Given the description of an element on the screen output the (x, y) to click on. 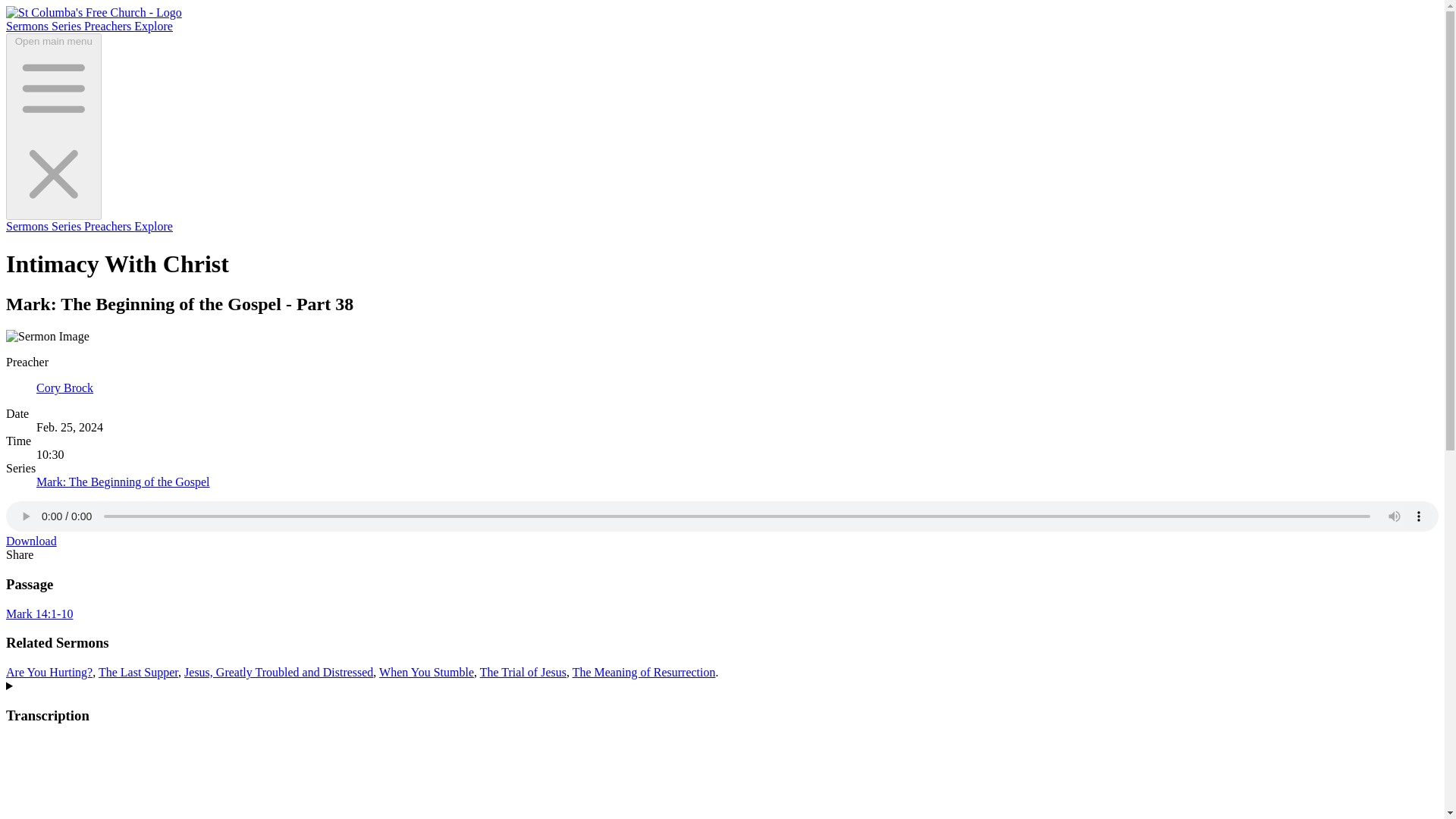
Preachers (108, 25)
Sermons (27, 226)
Download (30, 540)
Mark 14:1-10 (38, 613)
Series (67, 226)
Are You Hurting? (49, 671)
The Meaning of Resurrection (644, 671)
Preachers (108, 226)
Explore (153, 226)
The Last Supper (138, 671)
